Given the description of an element on the screen output the (x, y) to click on. 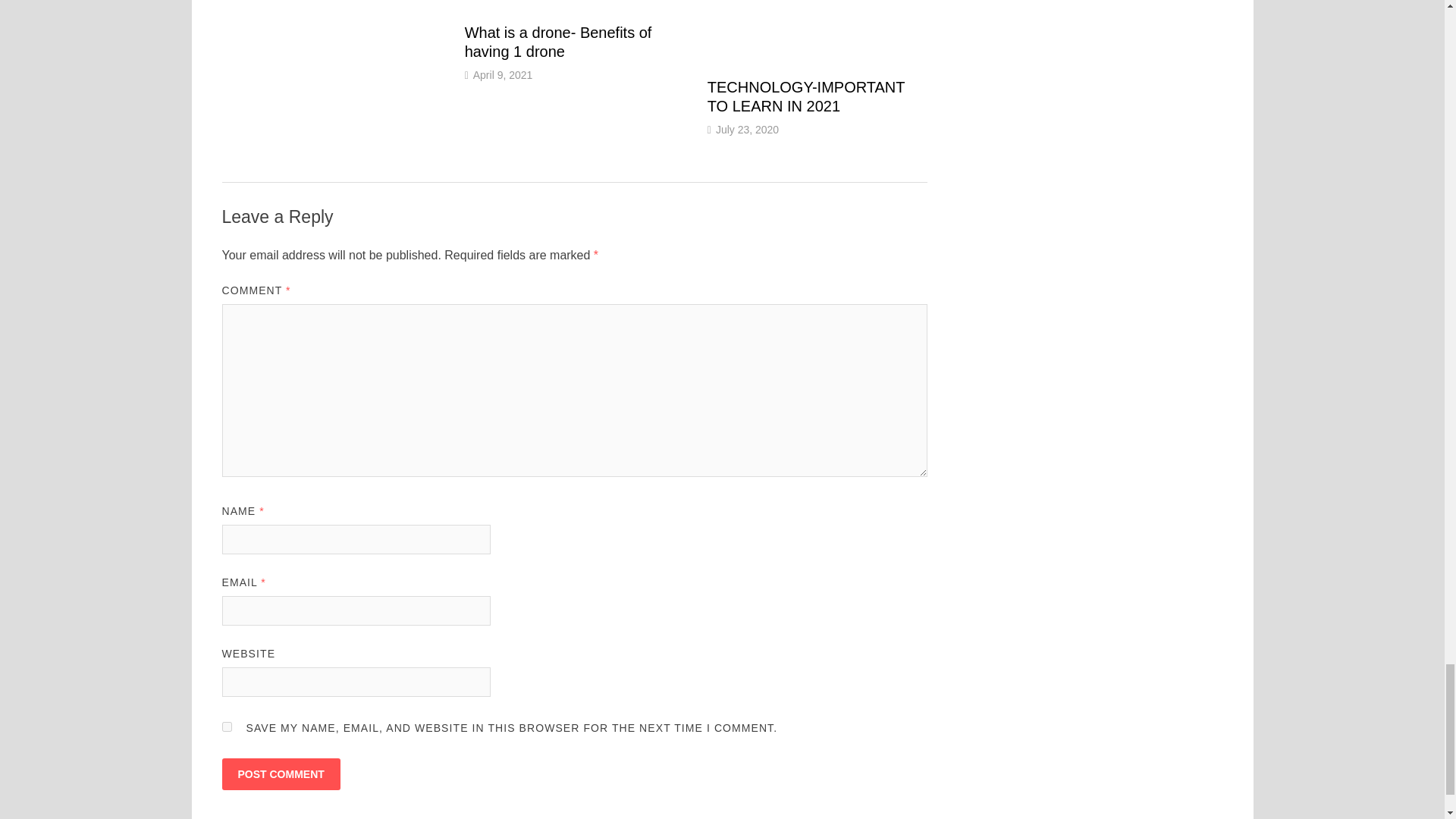
What is a drone- Benefits of having 1 drone (558, 41)
Post Comment (280, 774)
TECHNOLOGY-IMPORTANT TO LEARN IN 2021 (805, 96)
yes (226, 726)
